Given the description of an element on the screen output the (x, y) to click on. 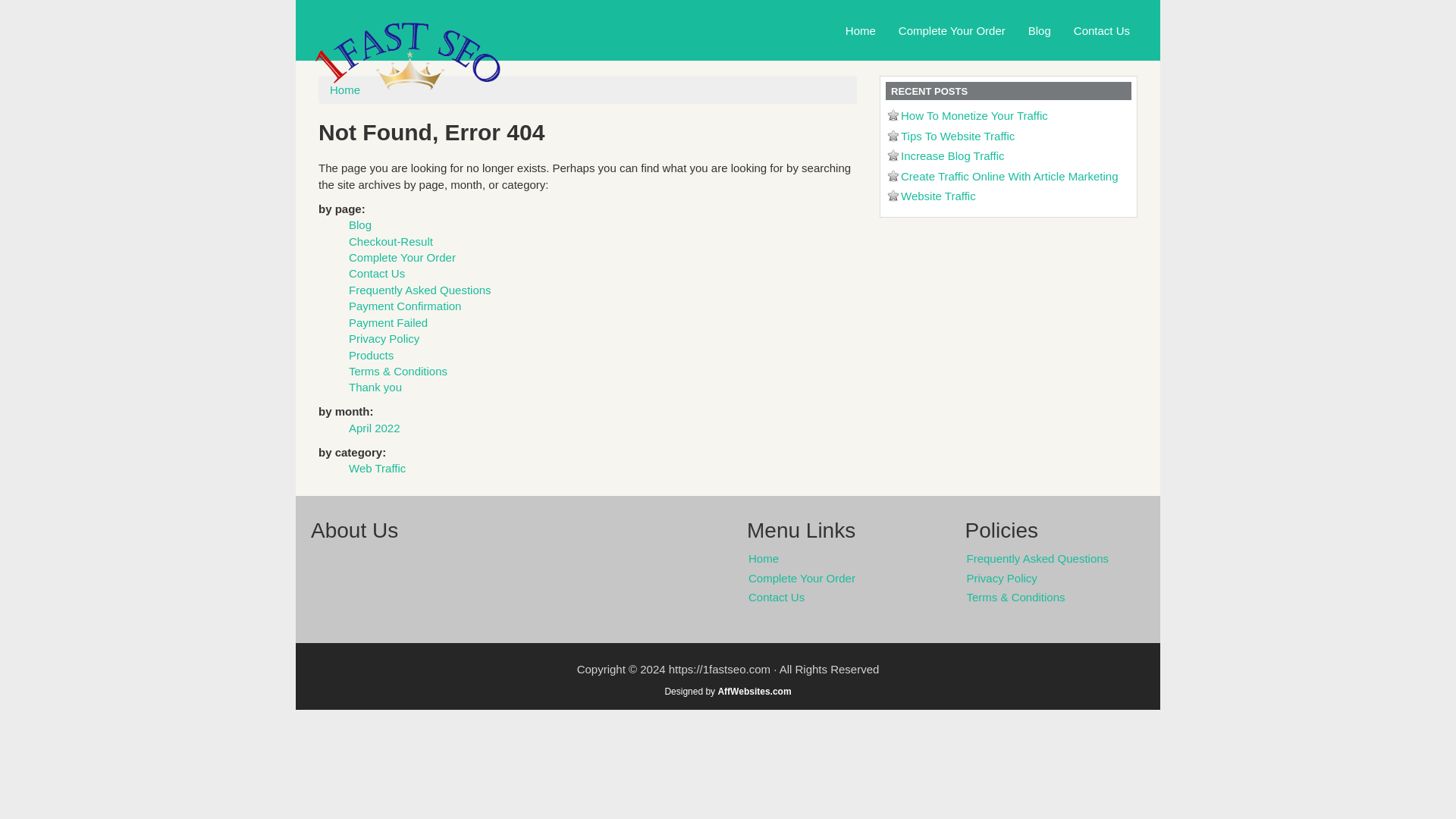
Contact Us (845, 598)
Privacy Policy (384, 338)
Tips To Website Traffic (957, 135)
Contact Us (1101, 30)
Create Traffic Online With Article Marketing (1009, 175)
Complete Your Order (402, 256)
Frequently Asked Questions (420, 289)
Payment Confirmation (405, 305)
Website Traffic (938, 195)
Complete Your Order (951, 30)
